Given the description of an element on the screen output the (x, y) to click on. 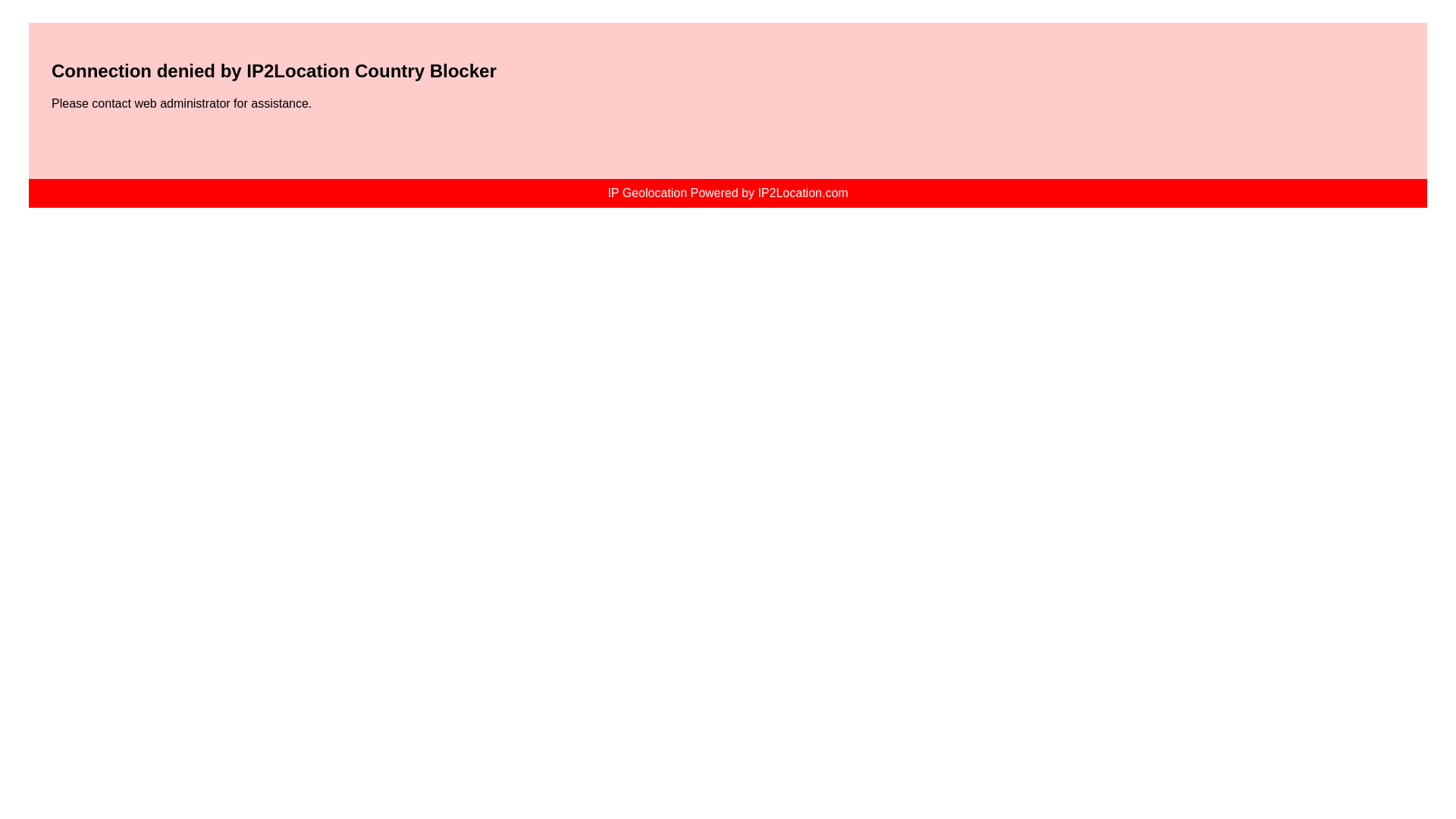
IP Geolocation Powered by IP2Location.com (727, 192)
